Given the description of an element on the screen output the (x, y) to click on. 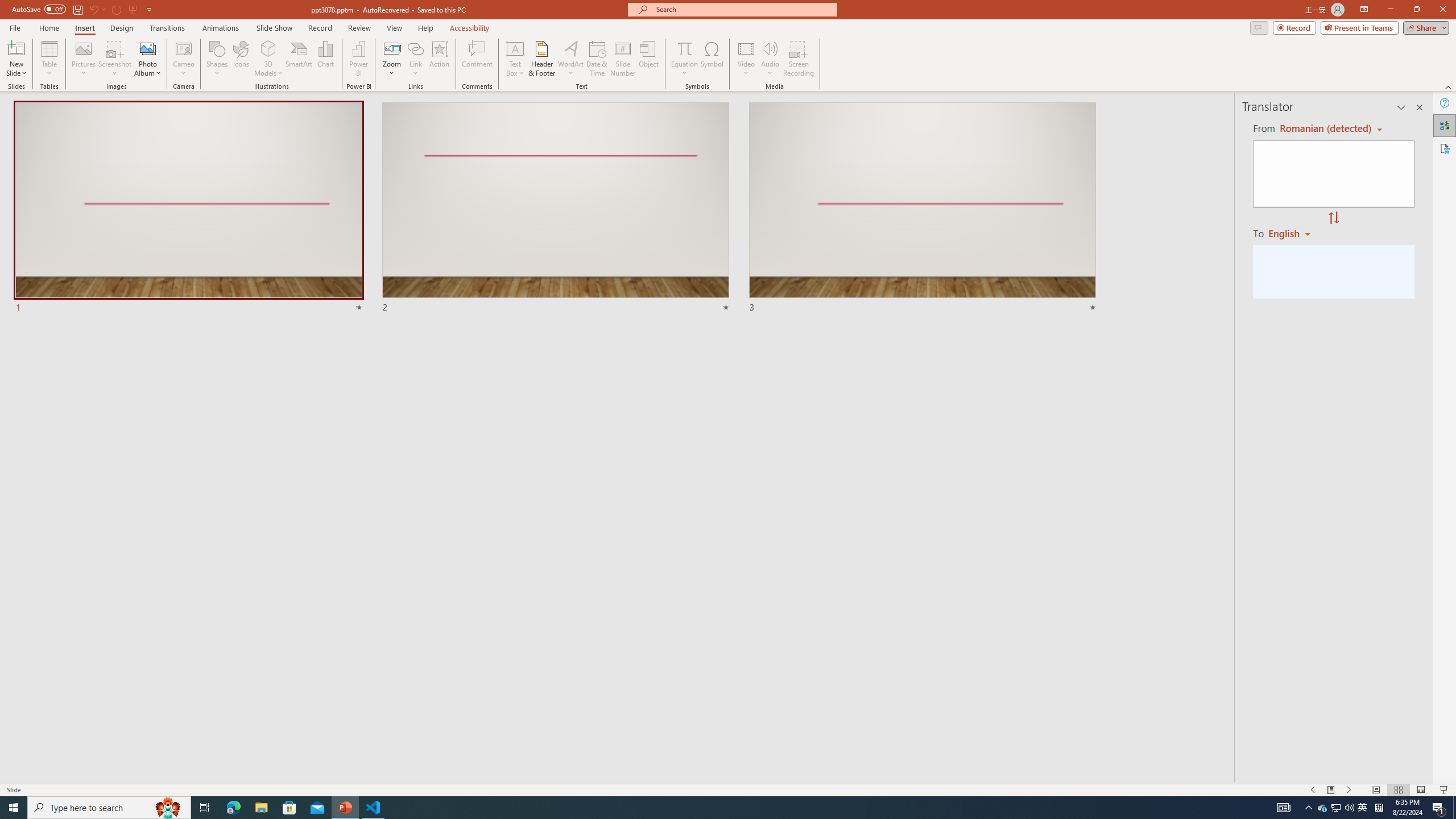
Romanian (1293, 232)
3D Models (268, 58)
Photo Album... (147, 58)
